Given the description of an element on the screen output the (x, y) to click on. 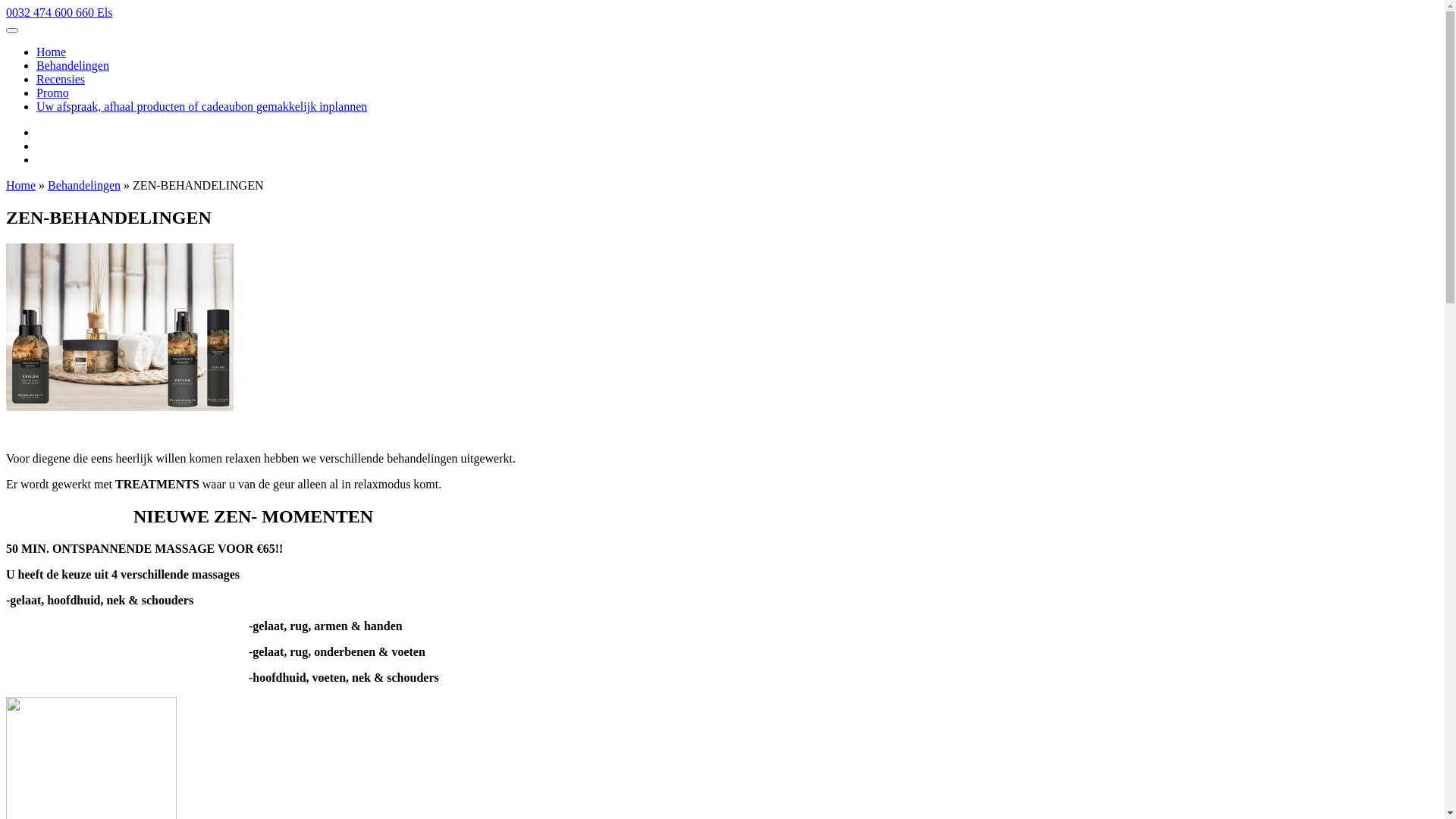
Promo Element type: text (52, 92)
Home Element type: text (50, 51)
Recensies Element type: text (60, 78)
Behandelingen Element type: text (72, 65)
Behandelingen Element type: text (83, 184)
0032 474 600 660 Els Element type: text (59, 12)
Home Element type: text (20, 184)
